Given the description of an element on the screen output the (x, y) to click on. 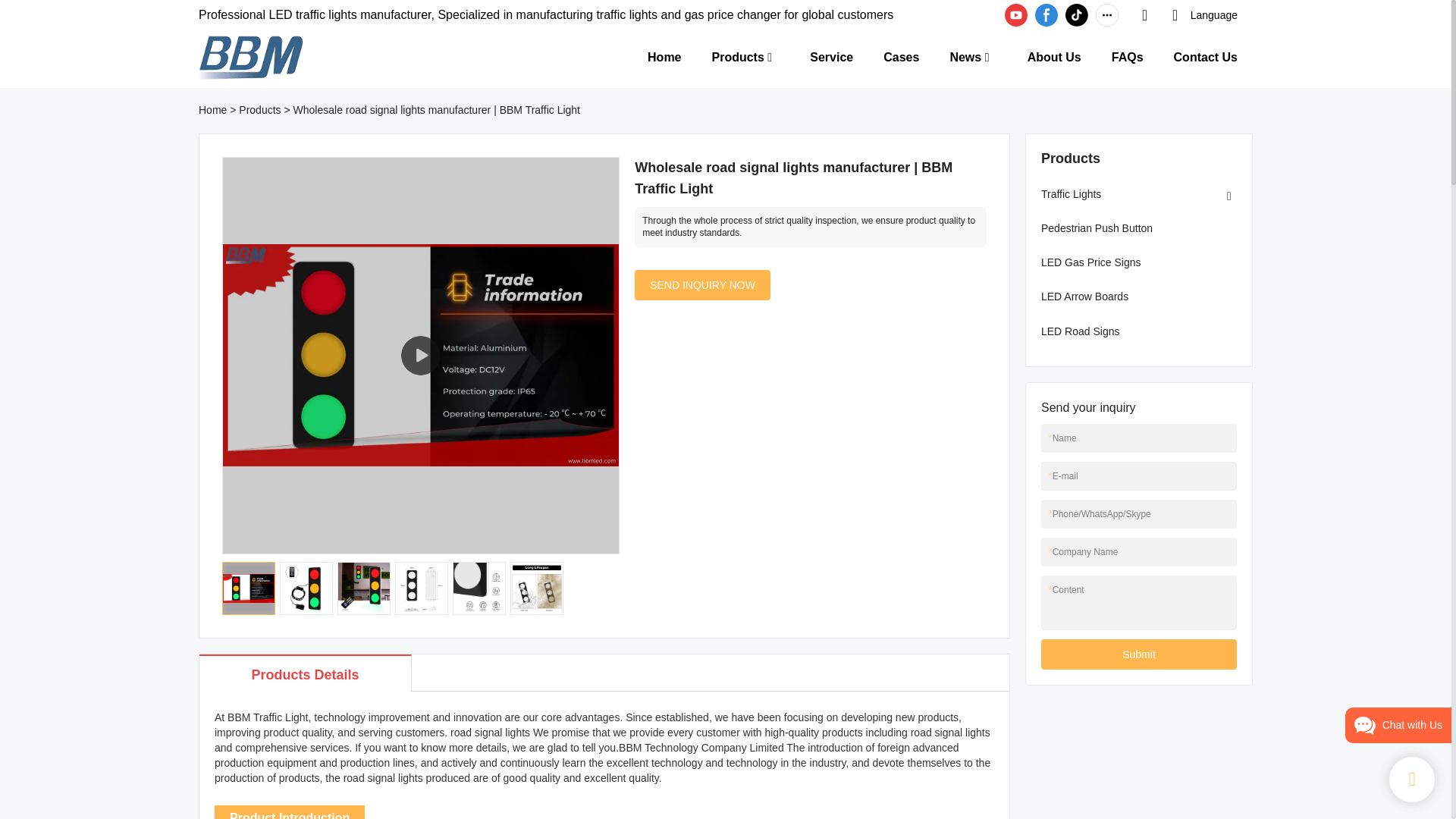
tiktok (1076, 15)
Products (259, 110)
Cases (900, 56)
Home (664, 56)
Service (831, 56)
FAQs (1127, 56)
About Us (1054, 56)
Home (212, 110)
News (965, 56)
facebook (1045, 15)
